Given the description of an element on the screen output the (x, y) to click on. 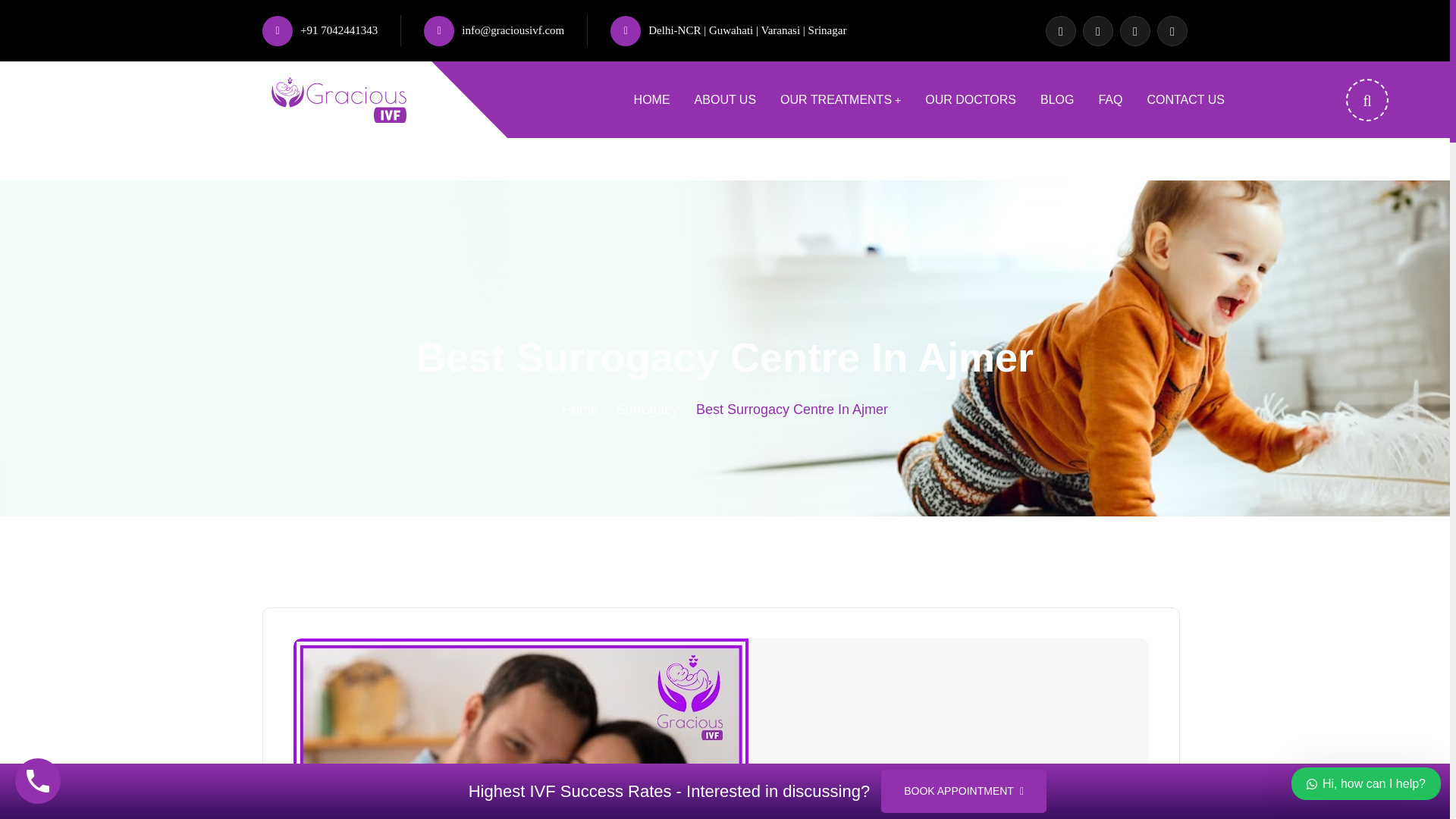
HOME (651, 98)
OUR TREATMENTS (840, 98)
Home (580, 409)
ABOUT US (725, 98)
Best Surrogacy Centre In Ajmer (791, 409)
